Given the description of an element on the screen output the (x, y) to click on. 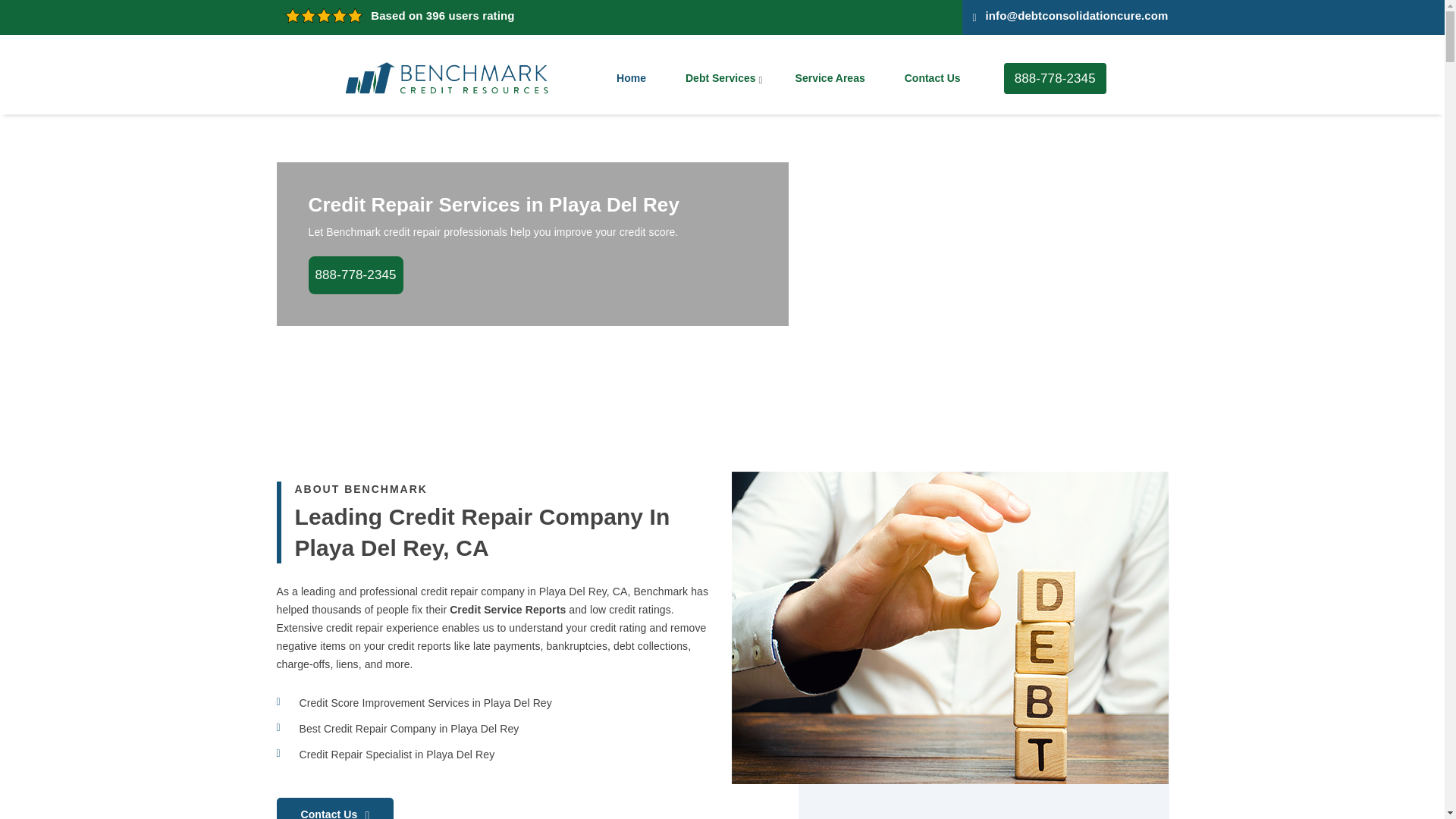
888-778-2345 (1055, 77)
Contact Us (334, 808)
Debt Services (720, 78)
Contact Us (932, 78)
888-778-2345 (355, 275)
Service Areas (830, 78)
